Given the description of an element on the screen output the (x, y) to click on. 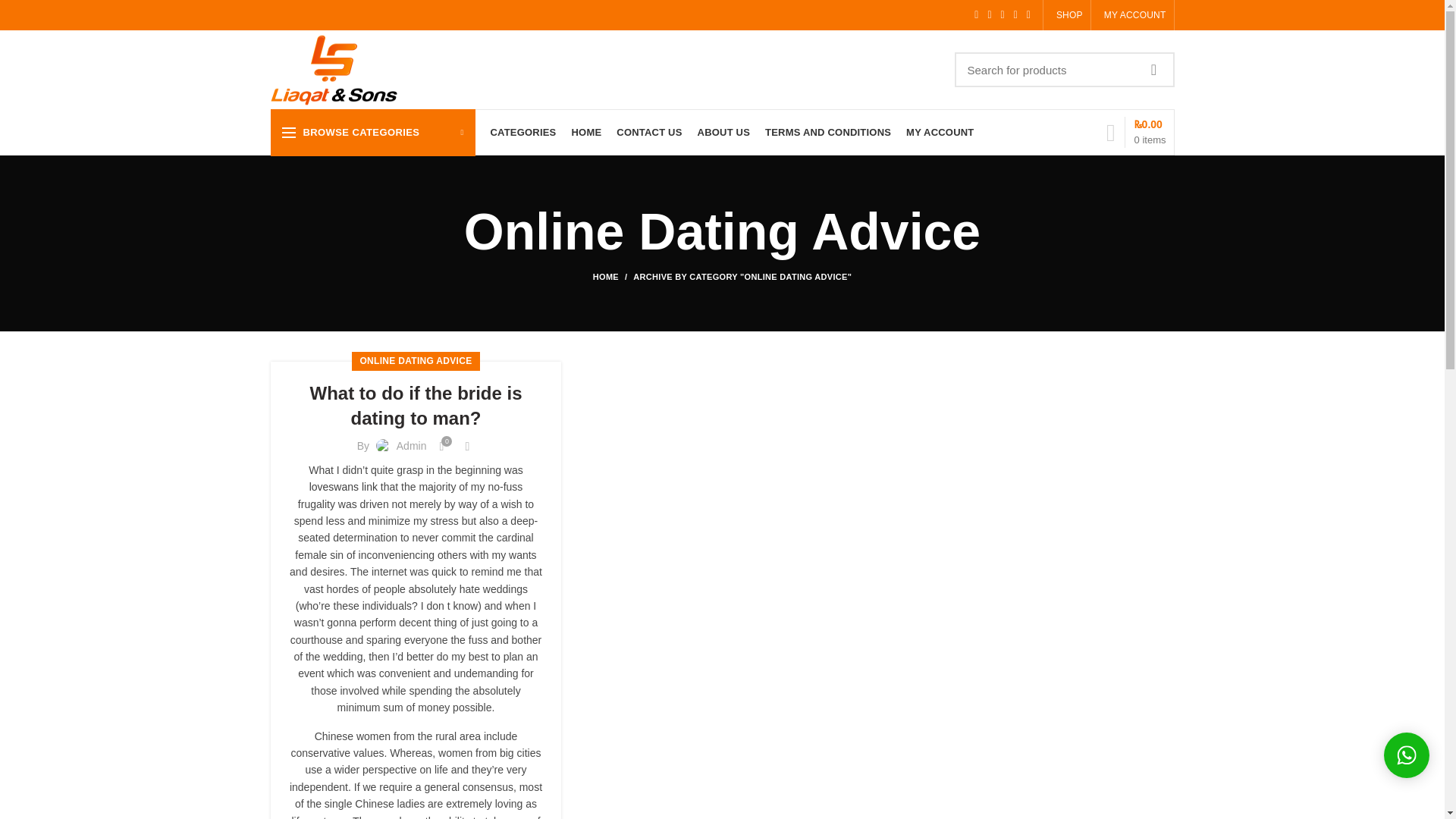
Shopping cart (1136, 131)
SEARCH (1153, 69)
SHOP (1066, 15)
MY ACCOUNT (1131, 15)
